Given the description of an element on the screen output the (x, y) to click on. 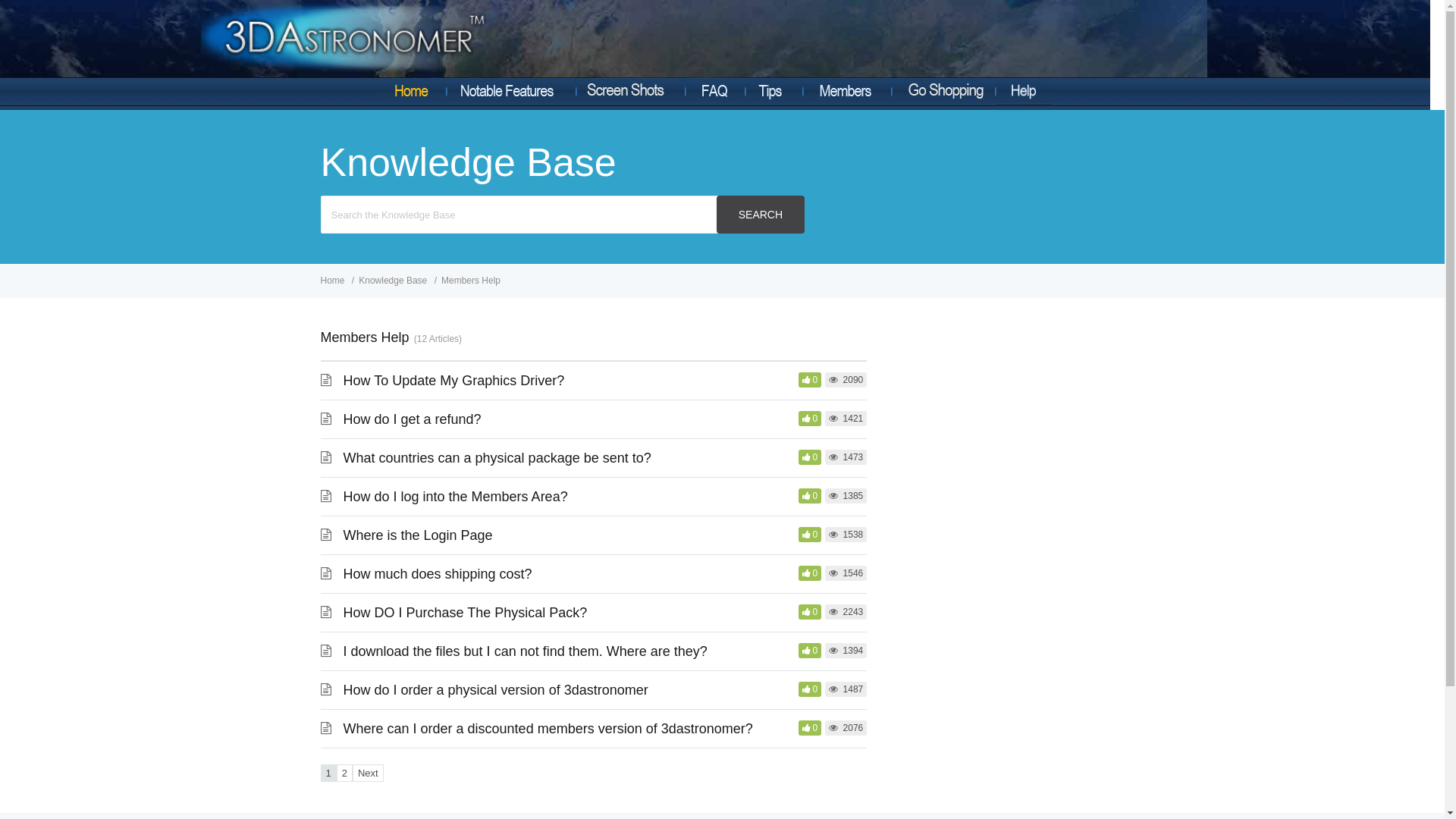
Where is the Login Page Element type: text (417, 534)
Knowledge Base Element type: text (393, 280)
Members Help Element type: text (470, 280)
What countries can a physical package be sent to? Element type: text (496, 457)
How DO I Purchase The Physical Pack? Element type: text (464, 612)
How much does shipping cost? Element type: text (436, 573)
How do I get a refund? Element type: text (411, 418)
2 Element type: text (344, 772)
Next Element type: text (367, 772)
How do I order a physical version of 3dastronomer Element type: text (494, 689)
How do I log into the Members Area? Element type: text (454, 496)
Home Element type: text (333, 280)
How To Update My Graphics Driver? Element type: text (453, 380)
SEARCH Element type: text (759, 214)
